Given the description of an element on the screen output the (x, y) to click on. 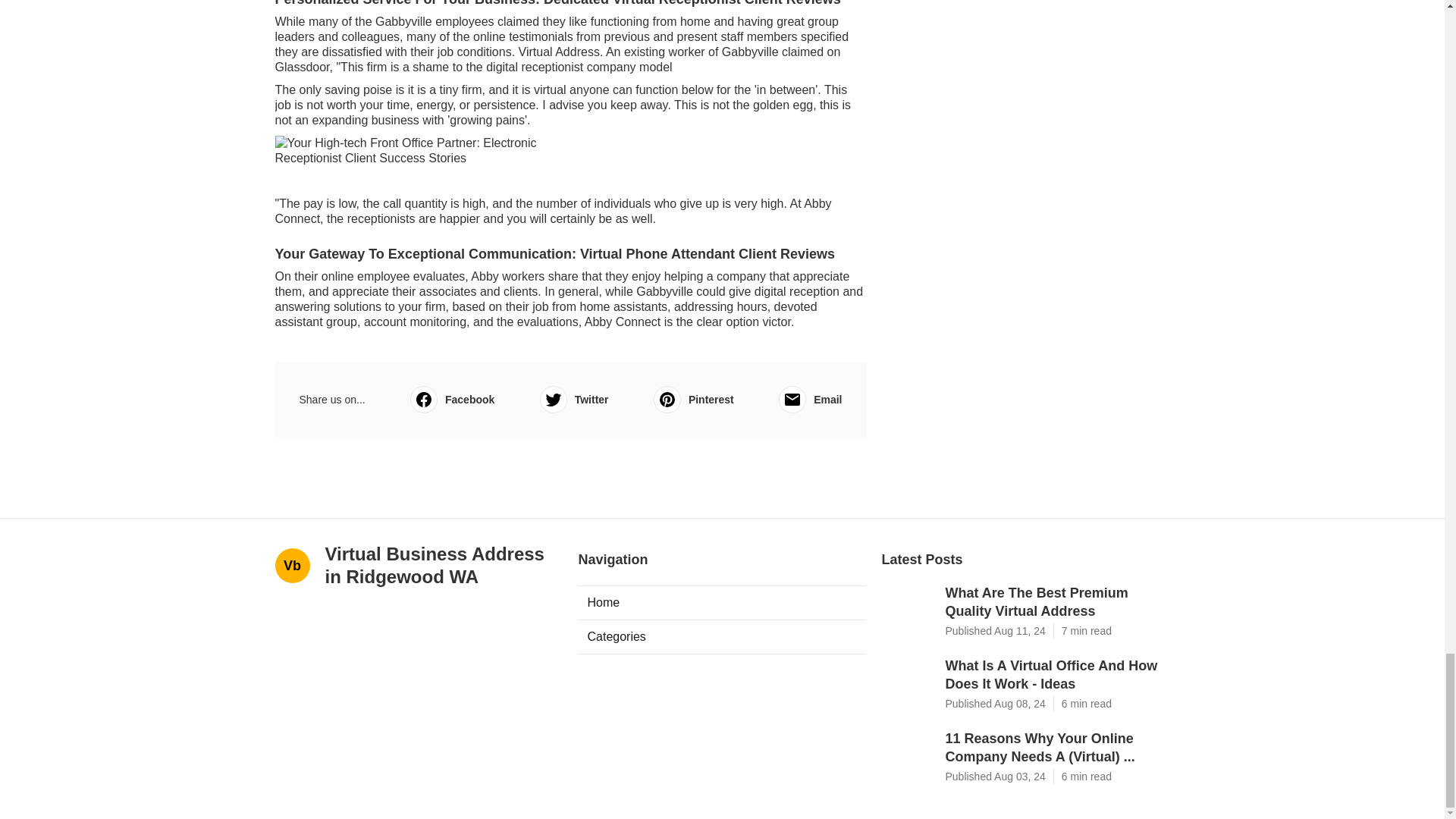
Facebook (452, 399)
Email (809, 399)
Twitter (574, 399)
Pinterest (693, 399)
